Given the description of an element on the screen output the (x, y) to click on. 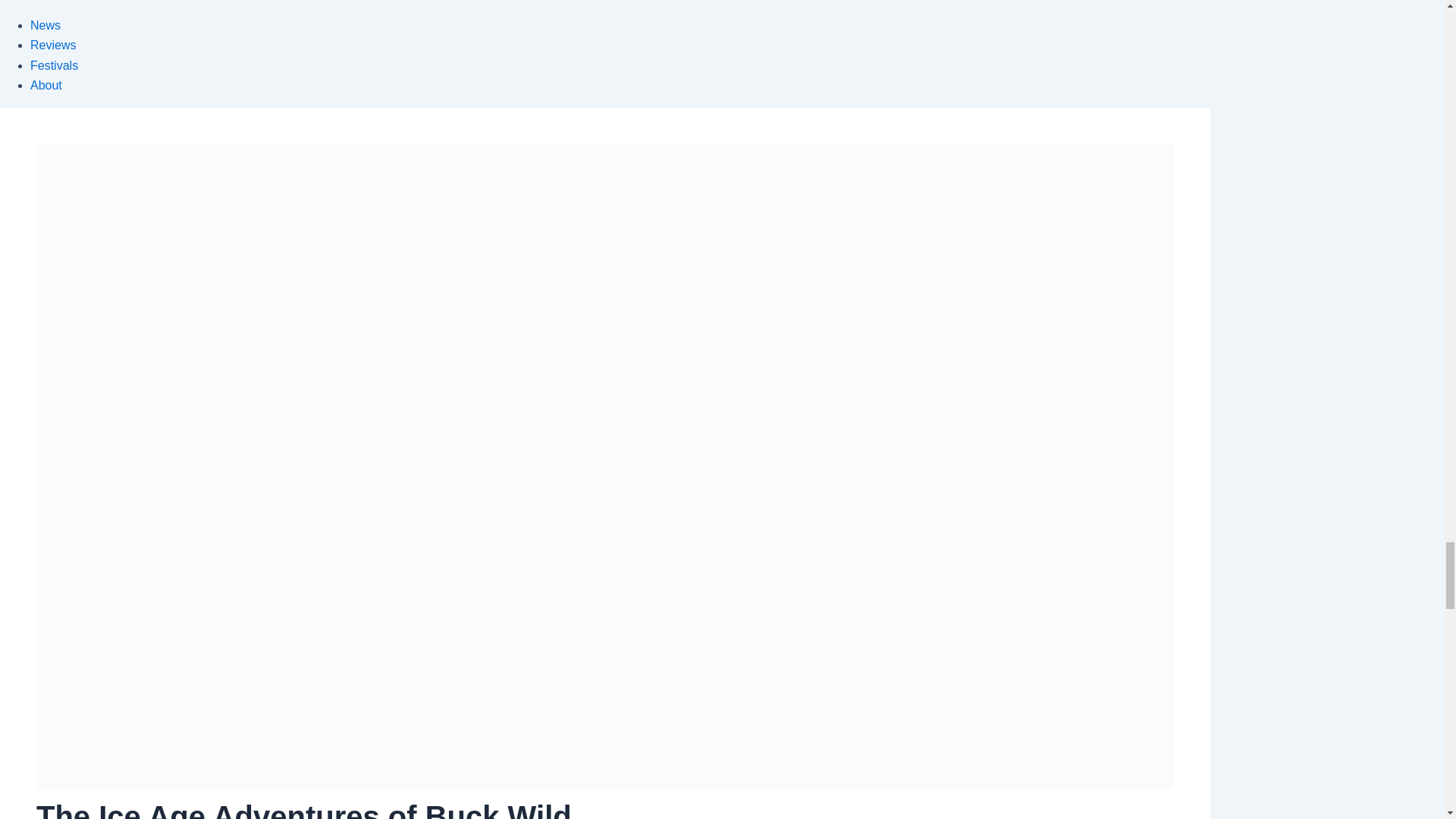
Reviews (52, 44)
About (46, 84)
News (45, 24)
Festivals (54, 65)
